Given the description of an element on the screen output the (x, y) to click on. 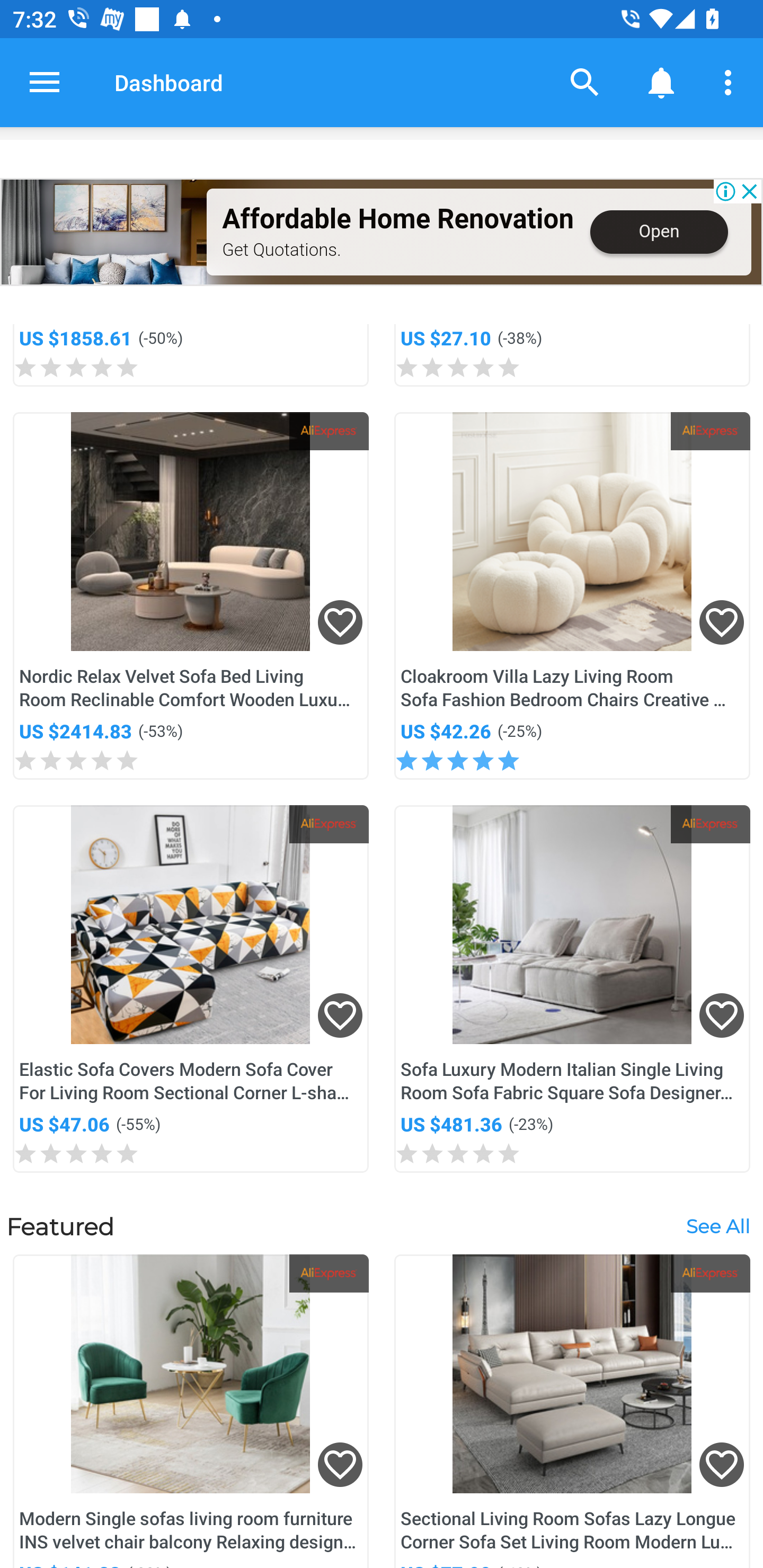
Open navigation drawer (44, 82)
Search (585, 81)
More options (731, 81)
free-quote (104, 231)
Affordable Home Renovation (397, 219)
Open (658, 232)
Get Quotations. (281, 249)
US $1858.61 (-50%) 0.0 (190, 355)
US $27.10 (-38%) 0.0 (572, 355)
See All (717, 1225)
